Given the description of an element on the screen output the (x, y) to click on. 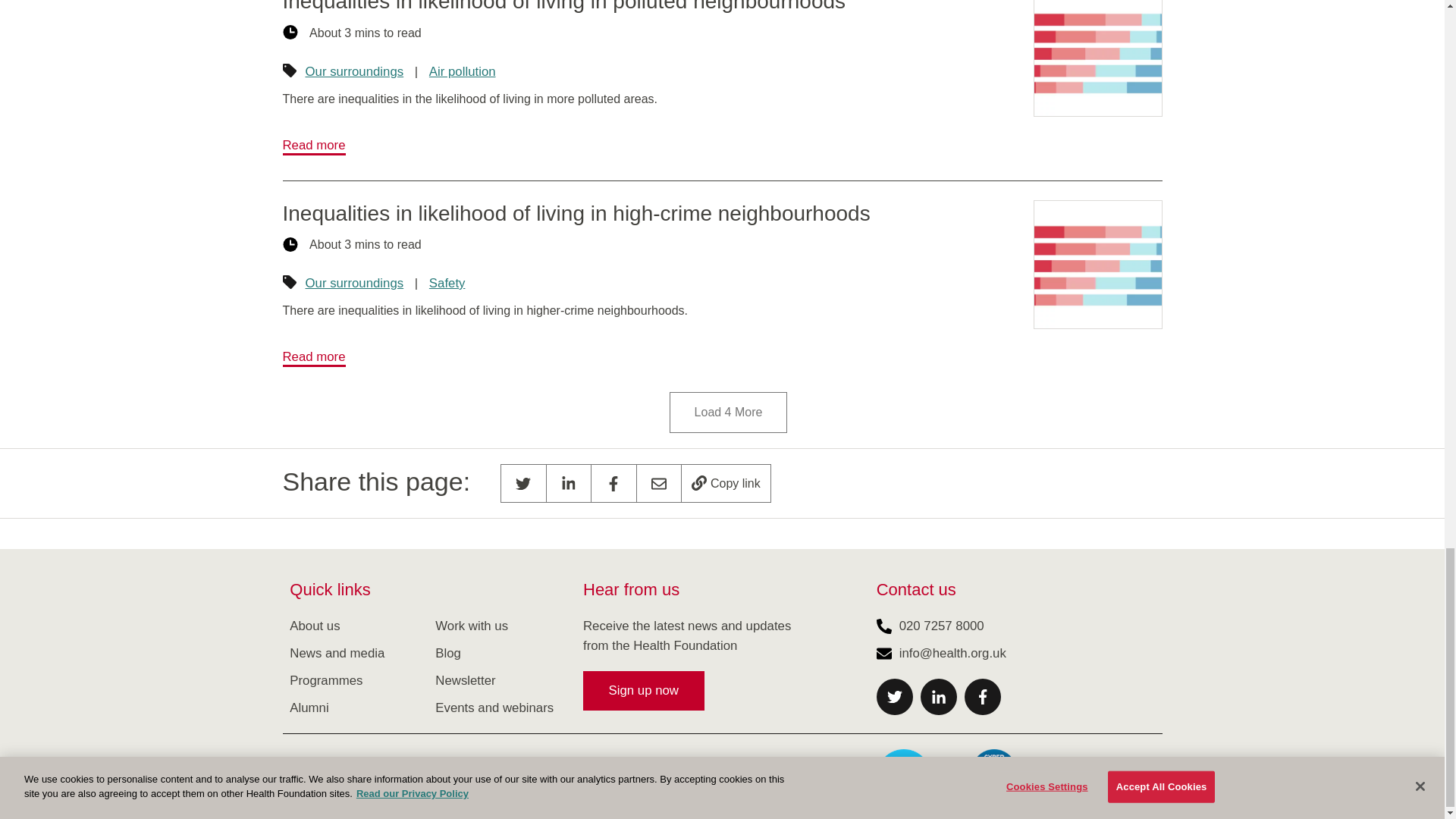
About the Alumni (309, 707)
Share by Email (659, 483)
Go to next page (728, 412)
